Given the description of an element on the screen output the (x, y) to click on. 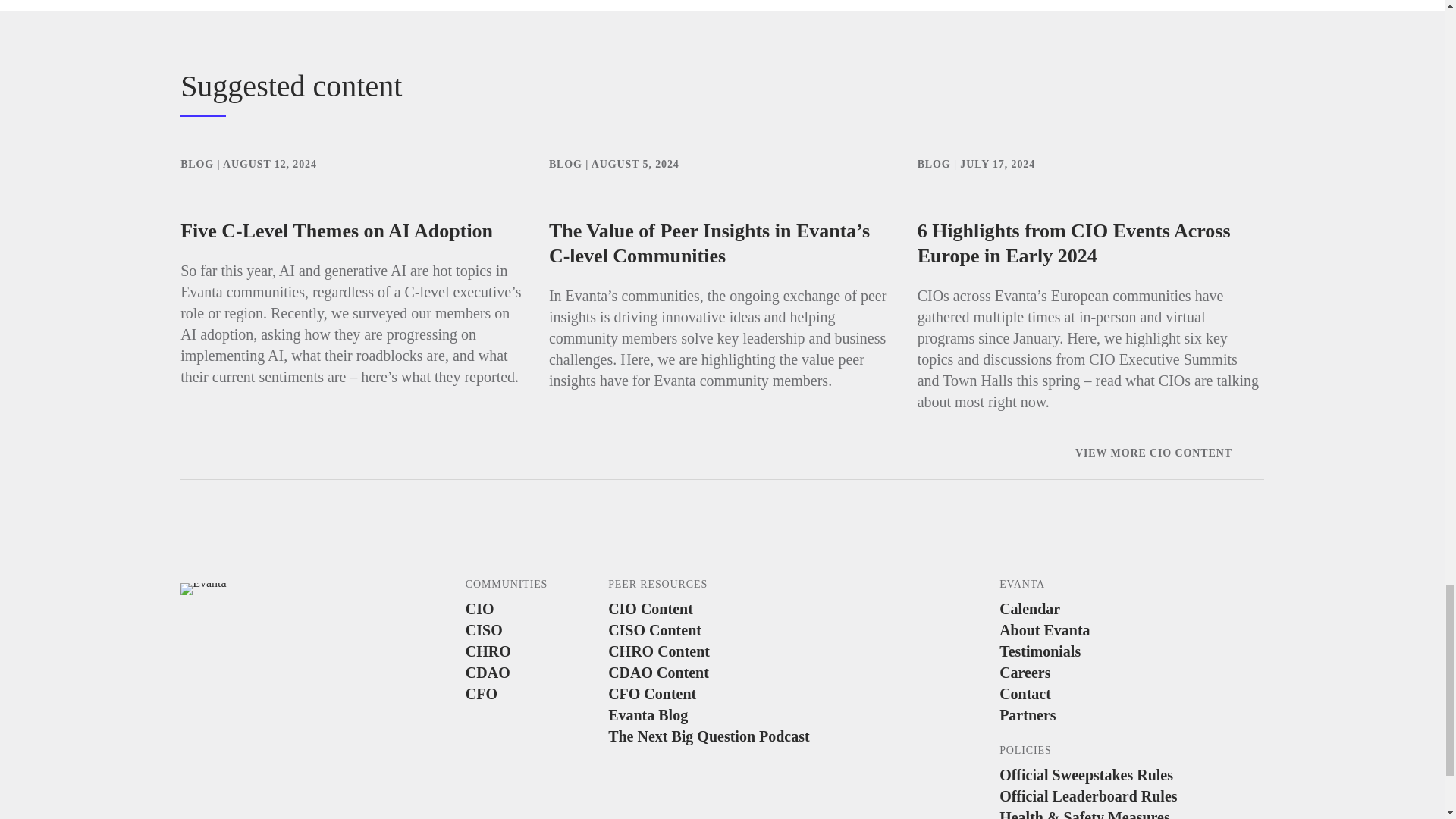
VIEW MORE CIO CONTENT (1169, 452)
CIO Content (732, 608)
CISO Content (732, 629)
CHRO (535, 650)
CFO (535, 693)
CDAO (535, 672)
CISO (535, 629)
CIO (535, 608)
